Given the description of an element on the screen output the (x, y) to click on. 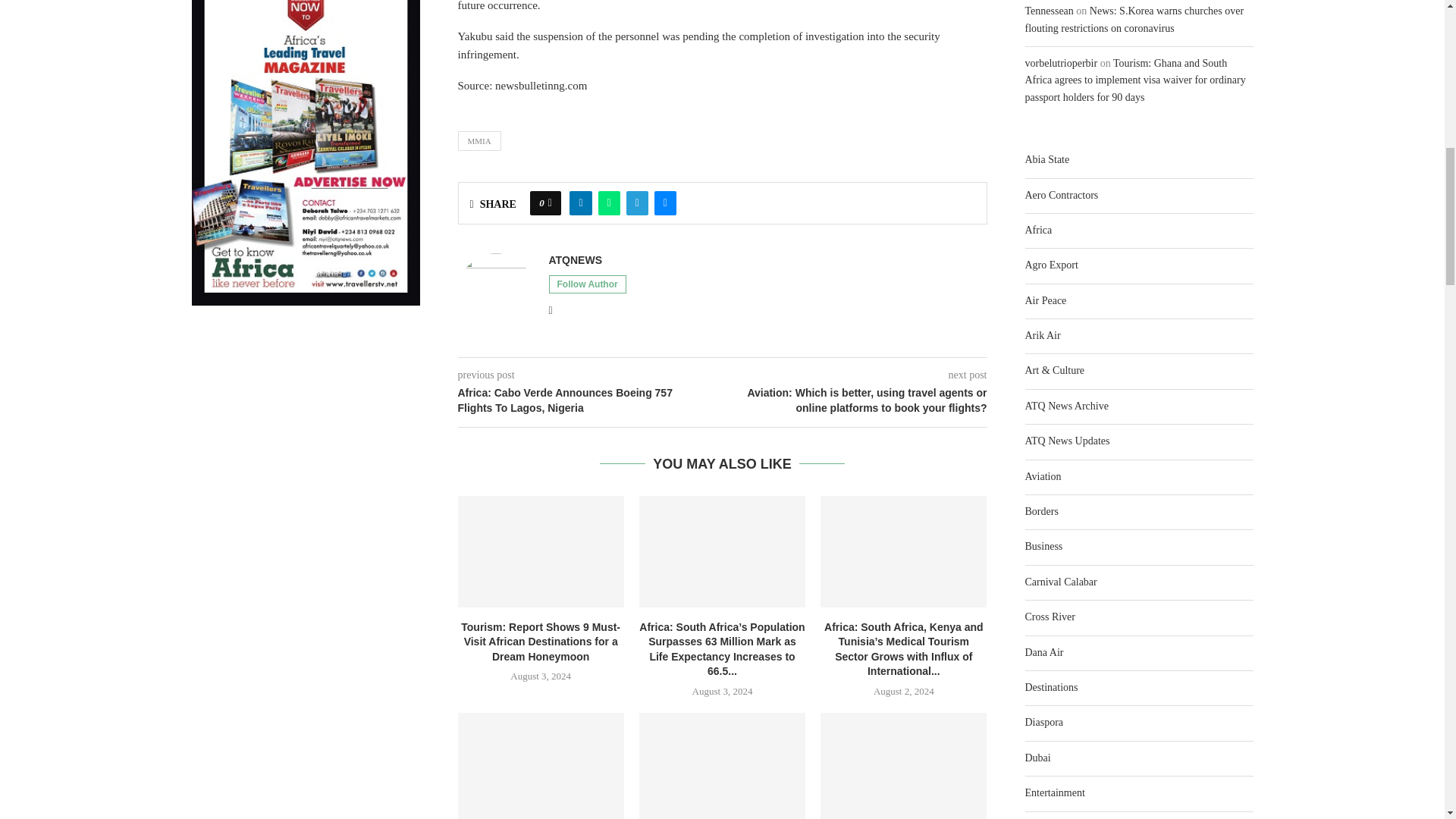
Author Atqnews (575, 260)
